Given the description of an element on the screen output the (x, y) to click on. 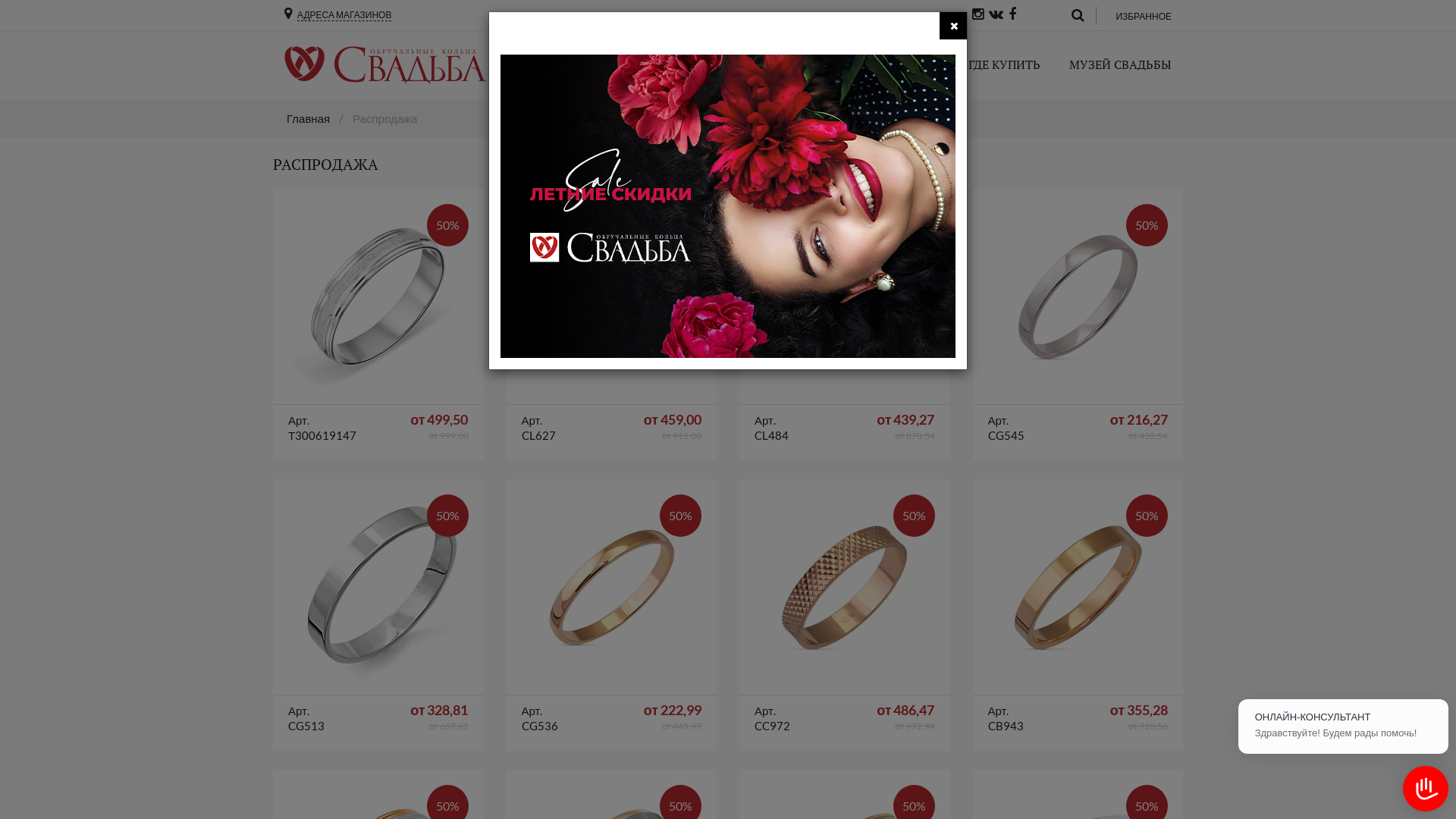
CG513 Element type: hover (378, 587)
50% Element type: text (611, 296)
50% Element type: text (378, 296)
50% Element type: text (378, 587)
CC972 Element type: hover (844, 587)
CG545 Element type: hover (1077, 296)
50% Element type: text (1077, 587)
CB943 Element type: hover (1077, 587)
50% Element type: text (844, 587)
50% Element type: text (611, 587)
50% Element type: text (1077, 296)
CL627 Element type: hover (611, 296)
CL484 Element type: hover (844, 296)
CG536 Element type: hover (611, 587)
50% Element type: text (844, 296)
